Given the description of an element on the screen output the (x, y) to click on. 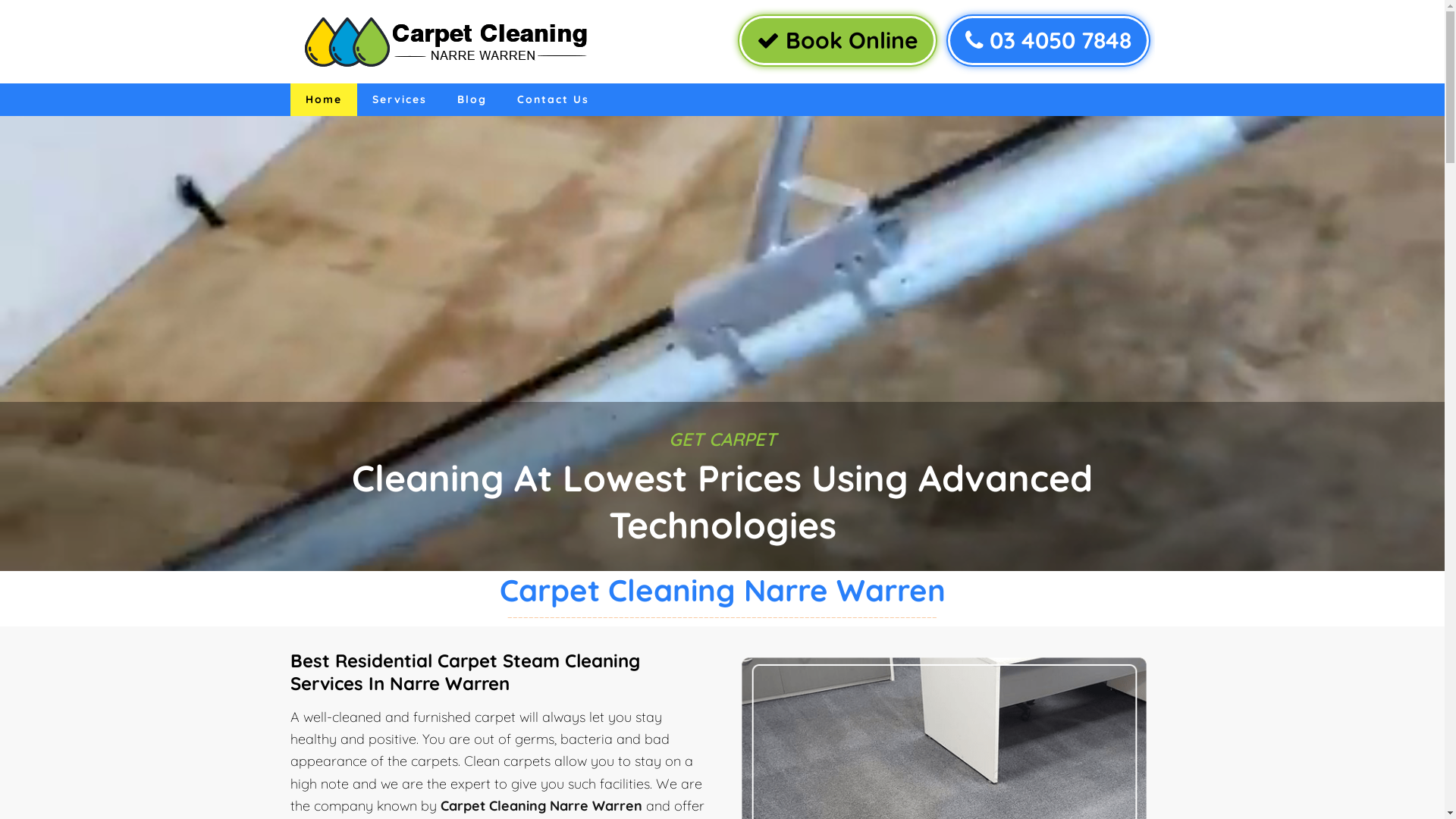
Carpet Cleaning Narre Warren Element type: text (540, 805)
Home Element type: text (322, 99)
Book Online Element type: text (836, 40)
Contact Us Element type: text (553, 99)
03 4050 7848 Element type: text (1048, 40)
Services Element type: text (398, 99)
Blog Element type: text (471, 99)
